Given the description of an element on the screen output the (x, y) to click on. 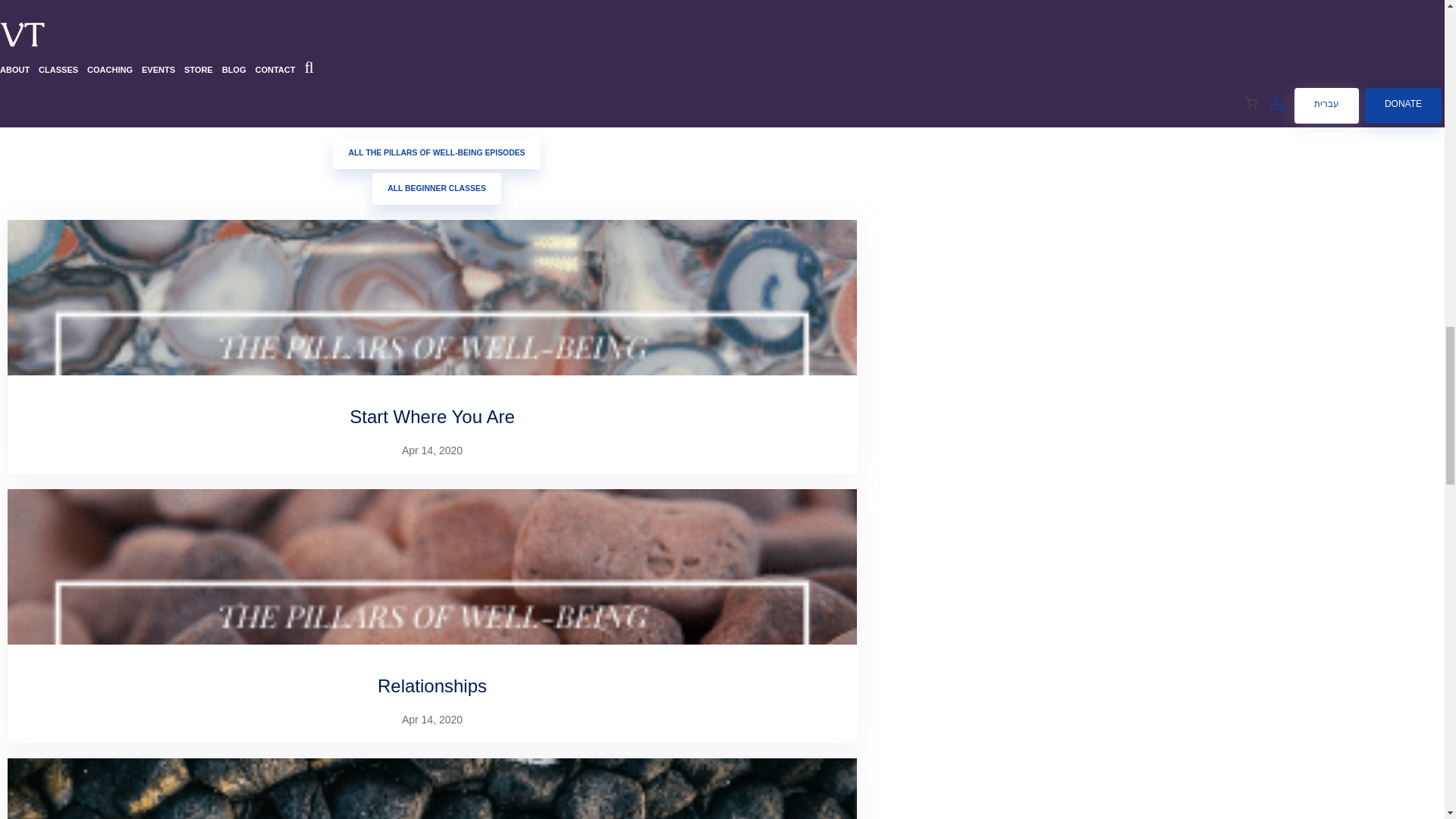
Start Where You Are (431, 416)
Relationships (431, 685)
